Given the description of an element on the screen output the (x, y) to click on. 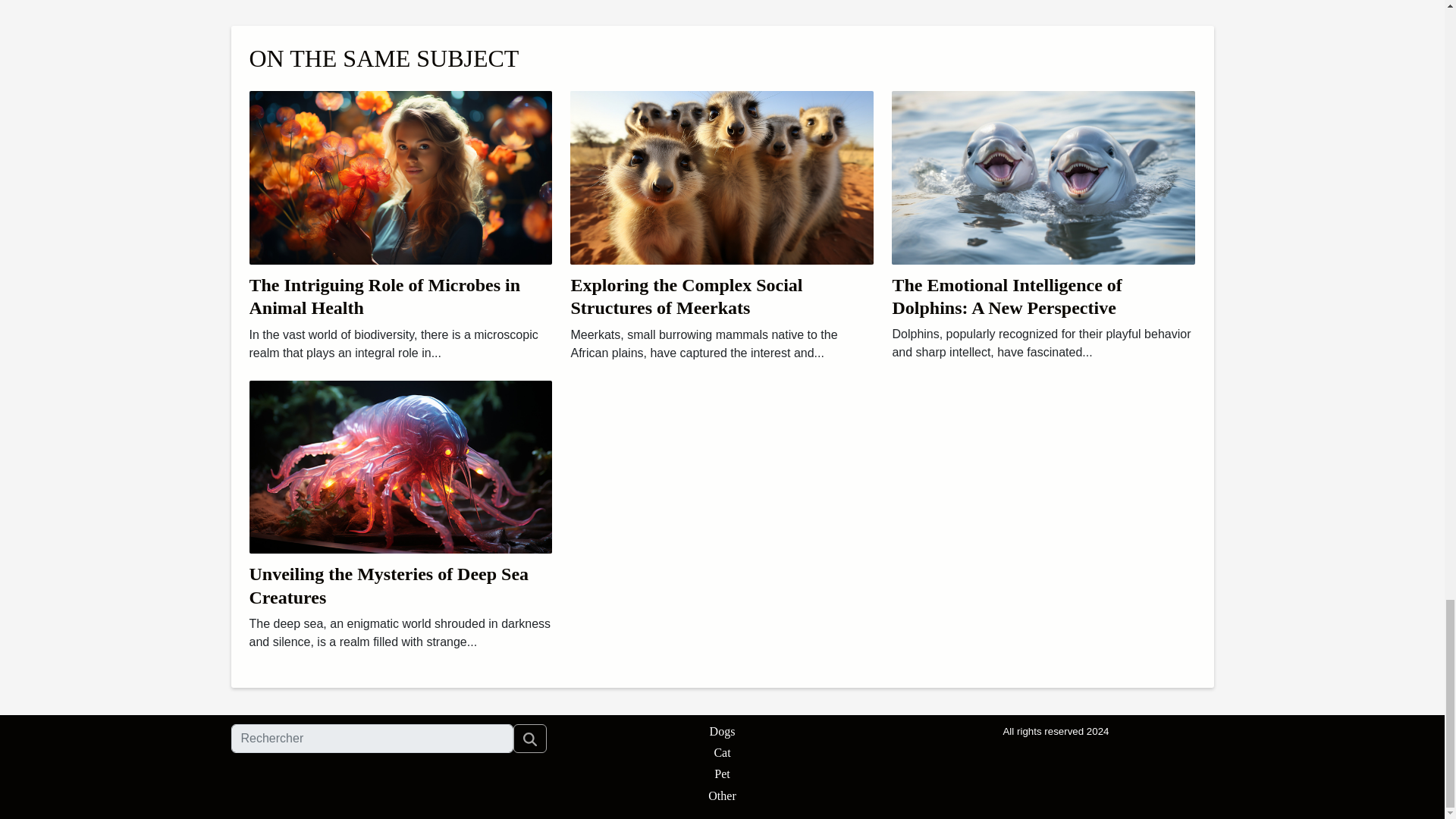
Exploring the Complex Social Structures of Meerkats (686, 296)
Exploring the Complex Social Structures of Meerkats (686, 296)
Dogs (722, 730)
The Intriguing Role of Microbes in Animal Health (383, 296)
The Intriguing Role of Microbes in Animal Health (399, 176)
The Intriguing Role of Microbes in Animal Health (383, 296)
Unveiling the Mysteries of Deep Sea Creatures (388, 585)
Unveiling the Mysteries of Deep Sea Creatures (388, 585)
The Emotional Intelligence of Dolphins: A New Perspective (1006, 296)
The Emotional Intelligence of Dolphins: A New Perspective (1006, 296)
Exploring the Complex Social Structures of Meerkats (721, 176)
Unveiling the Mysteries of Deep Sea Creatures (399, 465)
The Emotional Intelligence of Dolphins: A New Perspective (1043, 176)
